Given the description of an element on the screen output the (x, y) to click on. 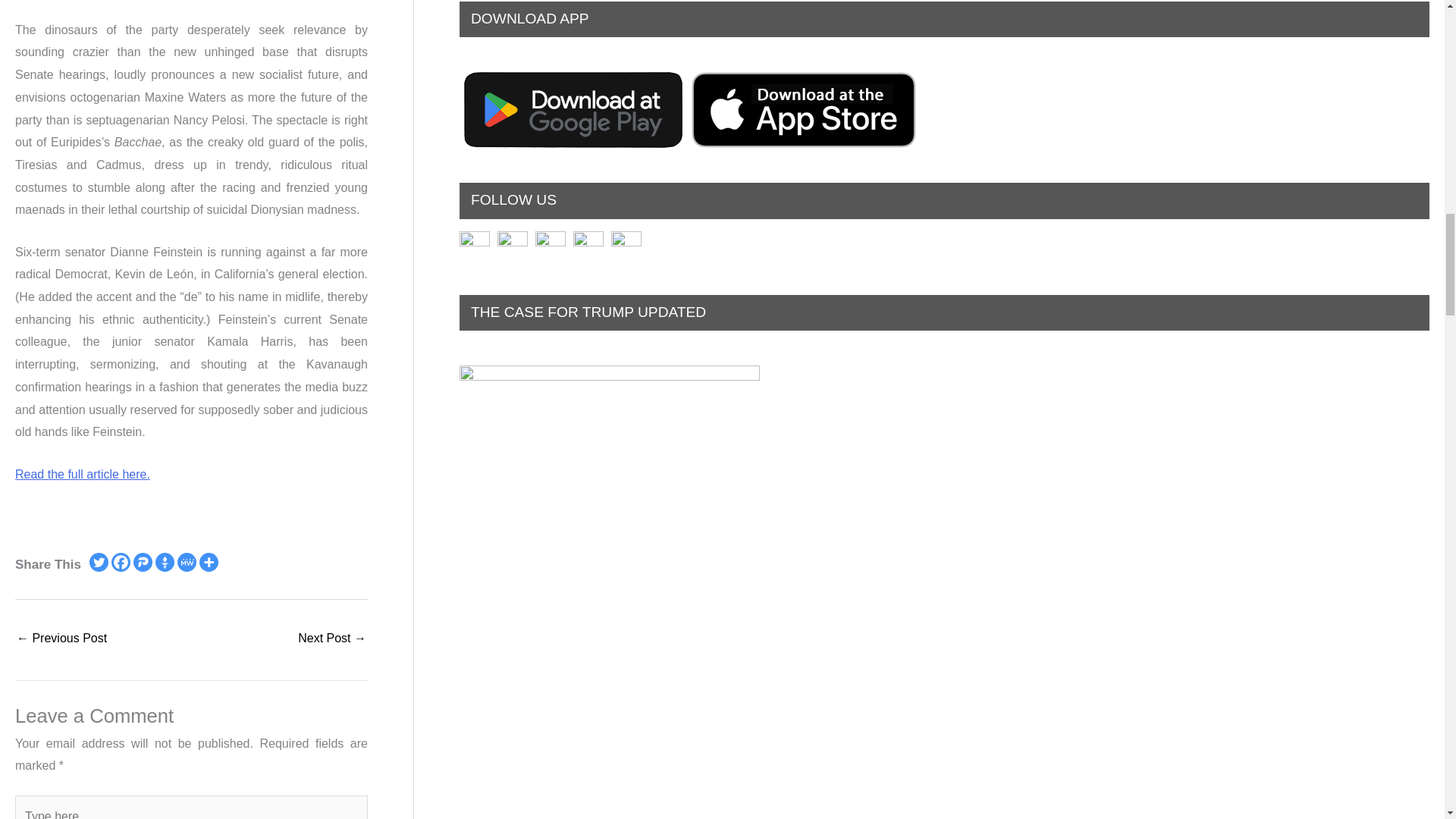
Parler (142, 561)
MeWe (186, 561)
Are We on the Verge of Civil War? (332, 639)
Facebook (121, 561)
More (208, 561)
Gettr (164, 561)
Twitter (97, 561)
Trump Buries The Old-World Order (61, 639)
